Given the description of an element on the screen output the (x, y) to click on. 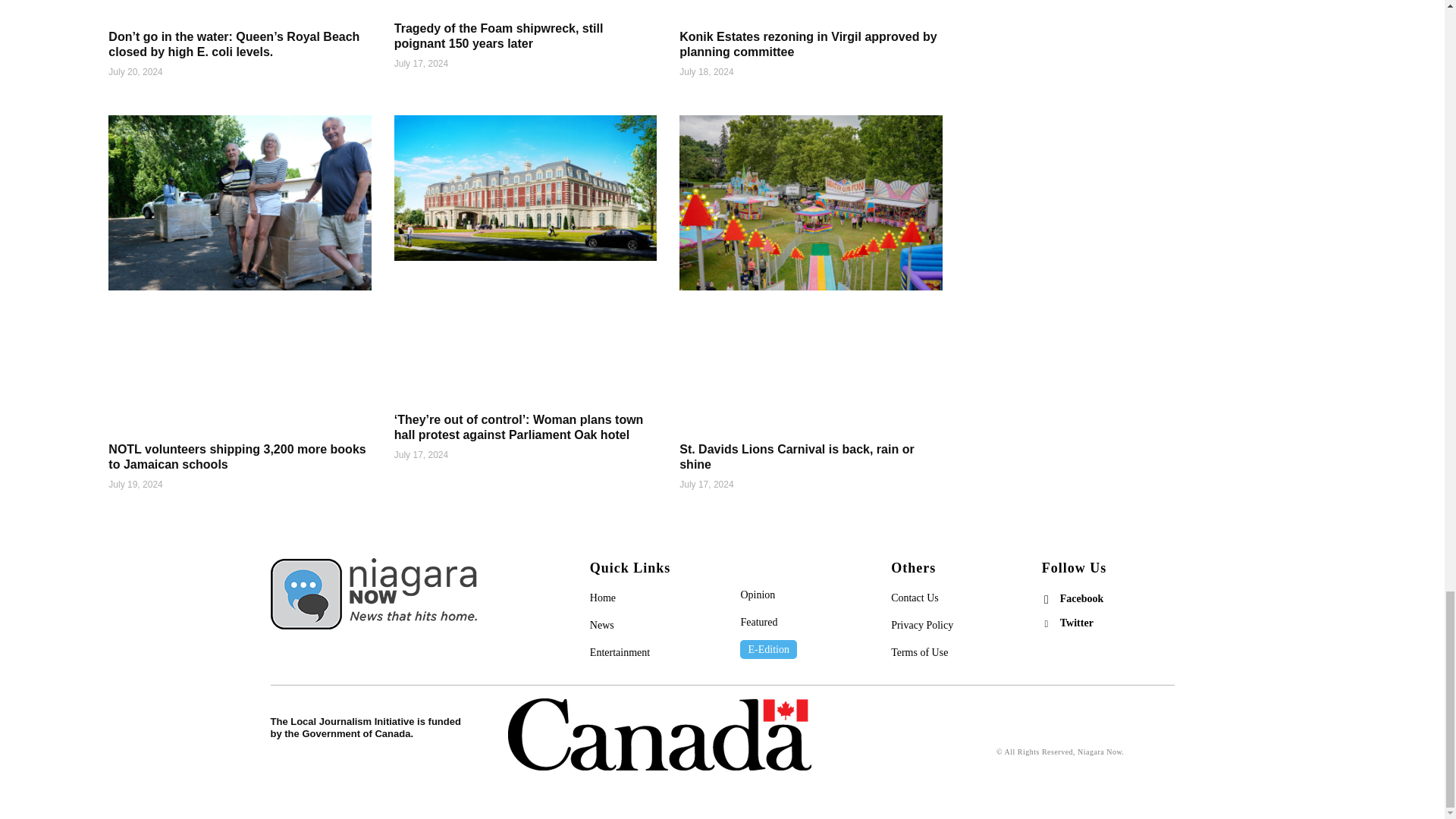
Facebook (1045, 599)
Twitter (1045, 623)
Canada (659, 734)
